Given the description of an element on the screen output the (x, y) to click on. 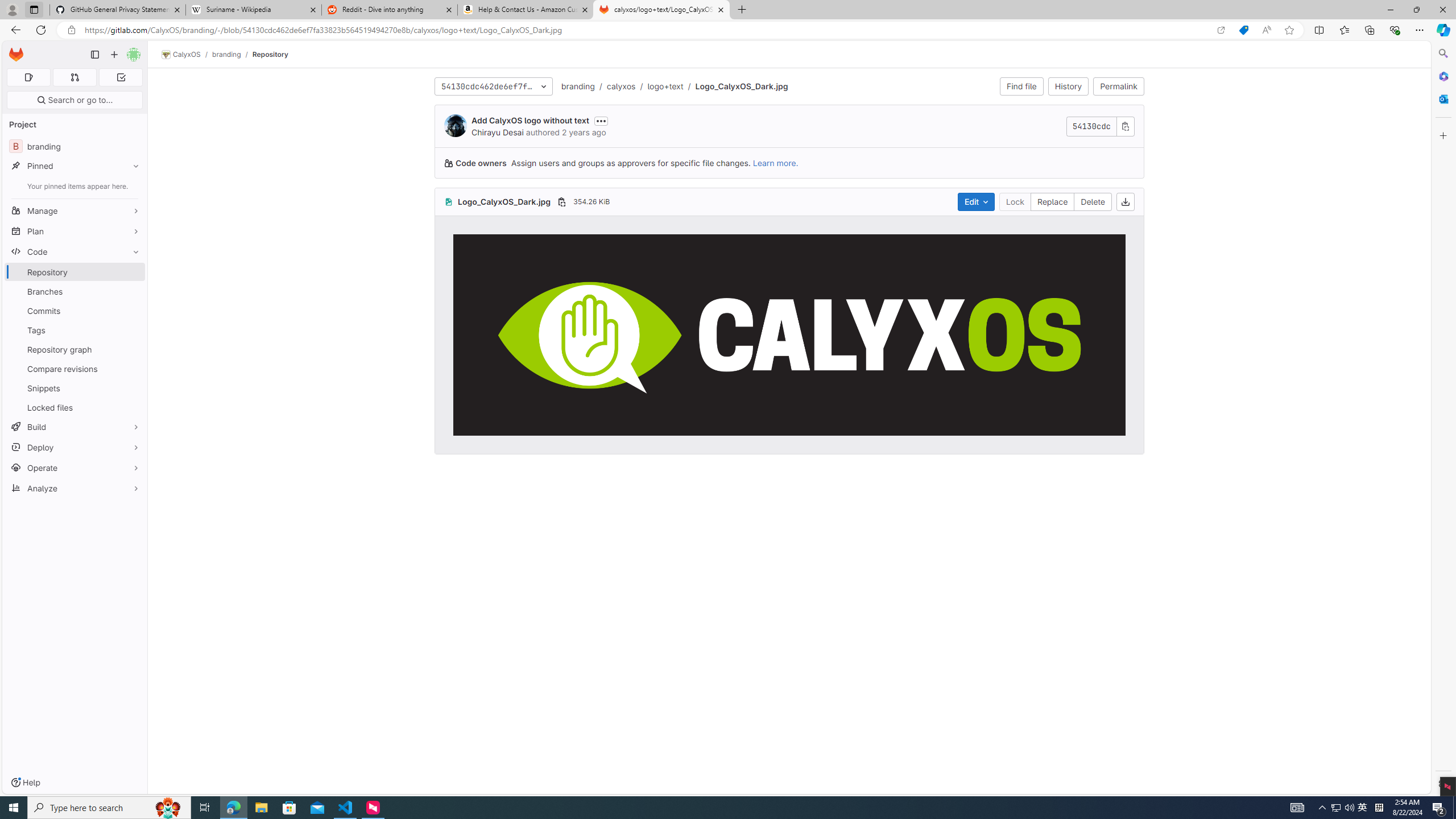
Pin Compare revisions (132, 368)
Find file (1020, 85)
/Logo_CalyxOS_Dark.jpg (734, 85)
Toggle commit description (601, 121)
B branding (74, 145)
Chirayu Desai (497, 131)
Locked files (74, 407)
branding (578, 85)
To-Do list 0 (120, 76)
Tags (74, 330)
